Given the description of an element on the screen output the (x, y) to click on. 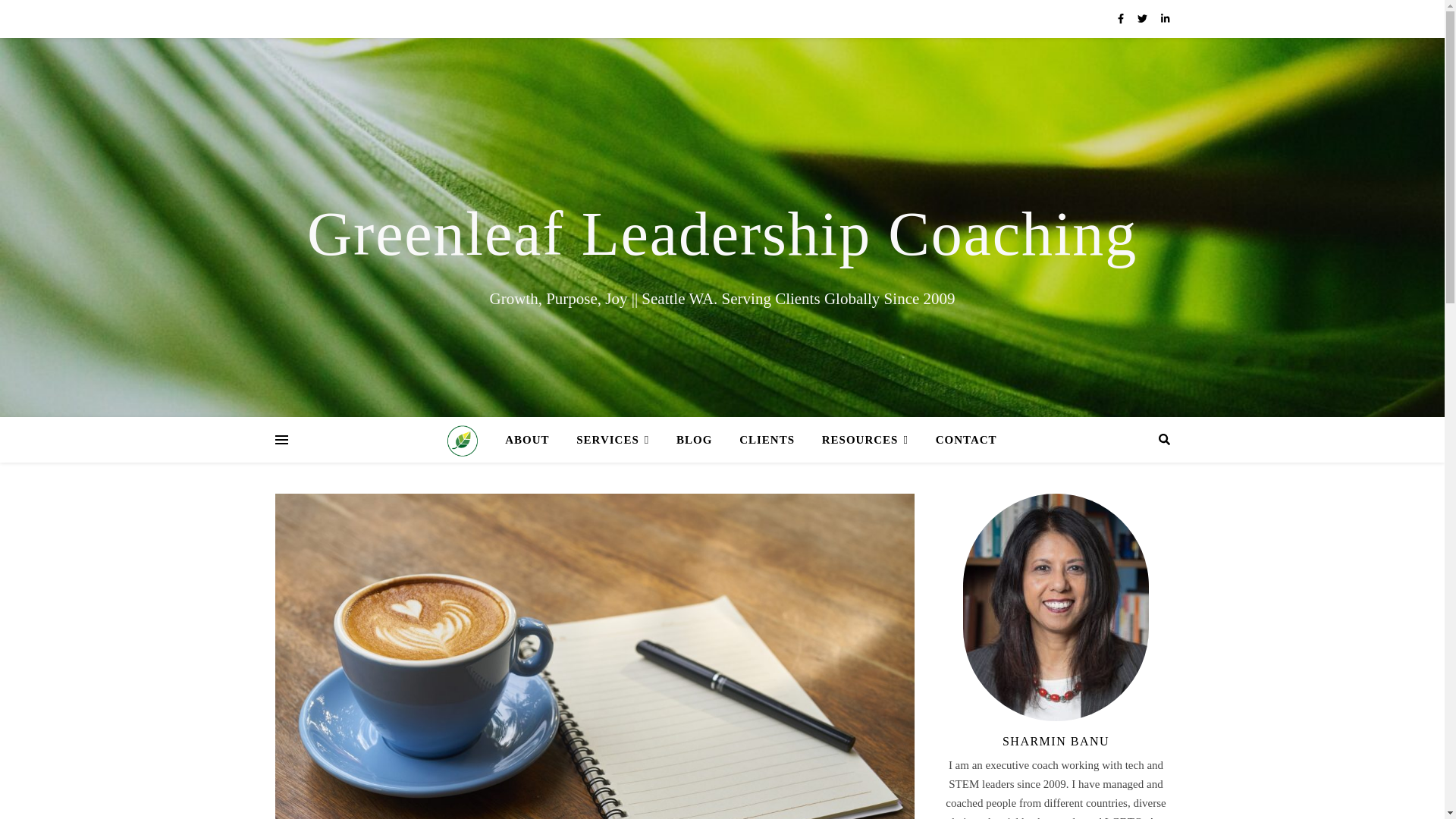
HOME (467, 439)
SERVICES (612, 439)
Greenleaf Leadership Coaching (722, 234)
CONTACT (960, 439)
CLIENTS (766, 439)
ABOUT (526, 439)
RESOURCES (864, 439)
BLOG (693, 439)
